Given the description of an element on the screen output the (x, y) to click on. 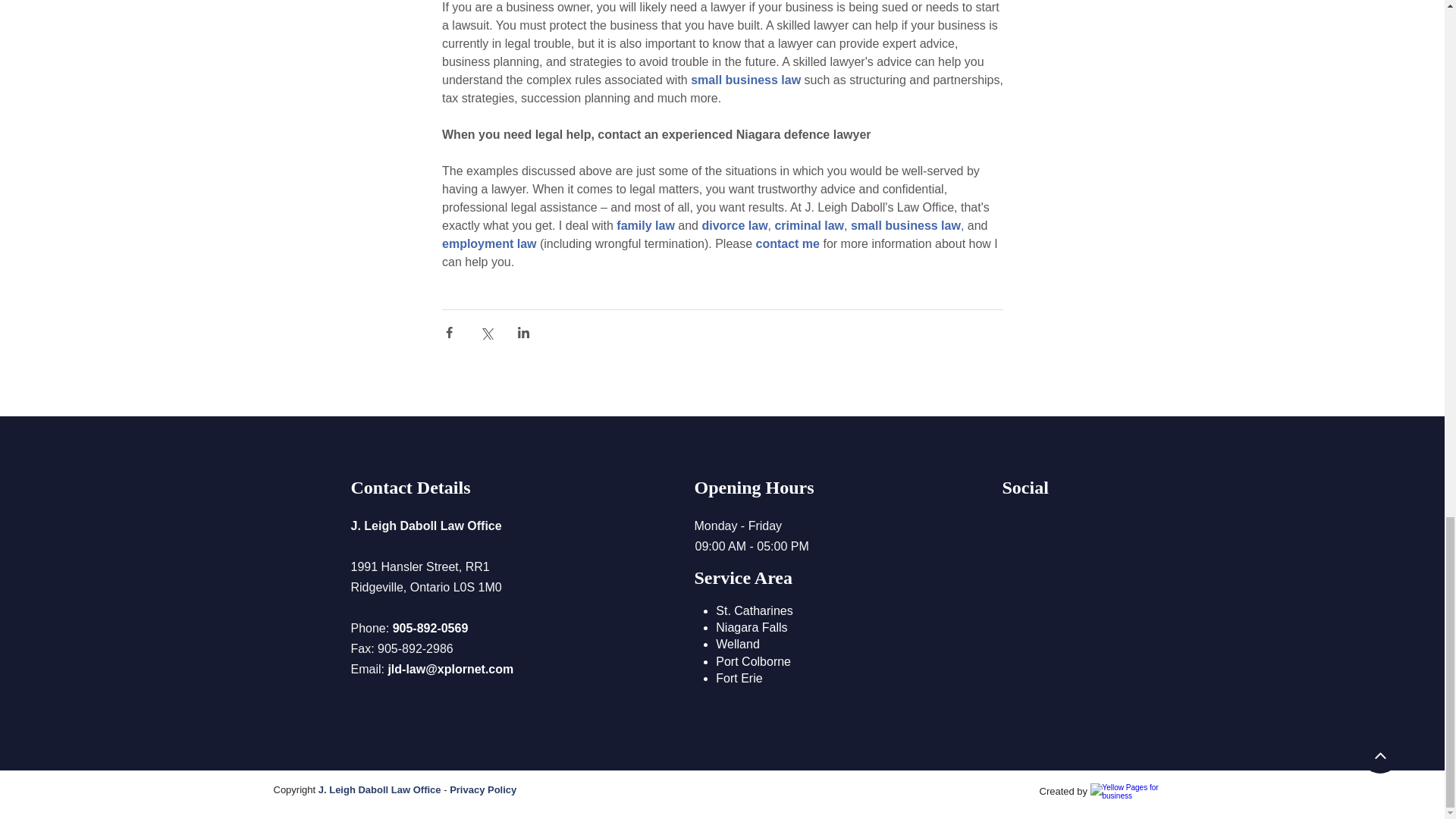
employment law (488, 243)
divorce law (734, 225)
905-892-0569 (430, 629)
criminal law (809, 225)
small business law (904, 225)
small business law (745, 79)
family law (644, 225)
contact me (786, 243)
